Given the description of an element on the screen output the (x, y) to click on. 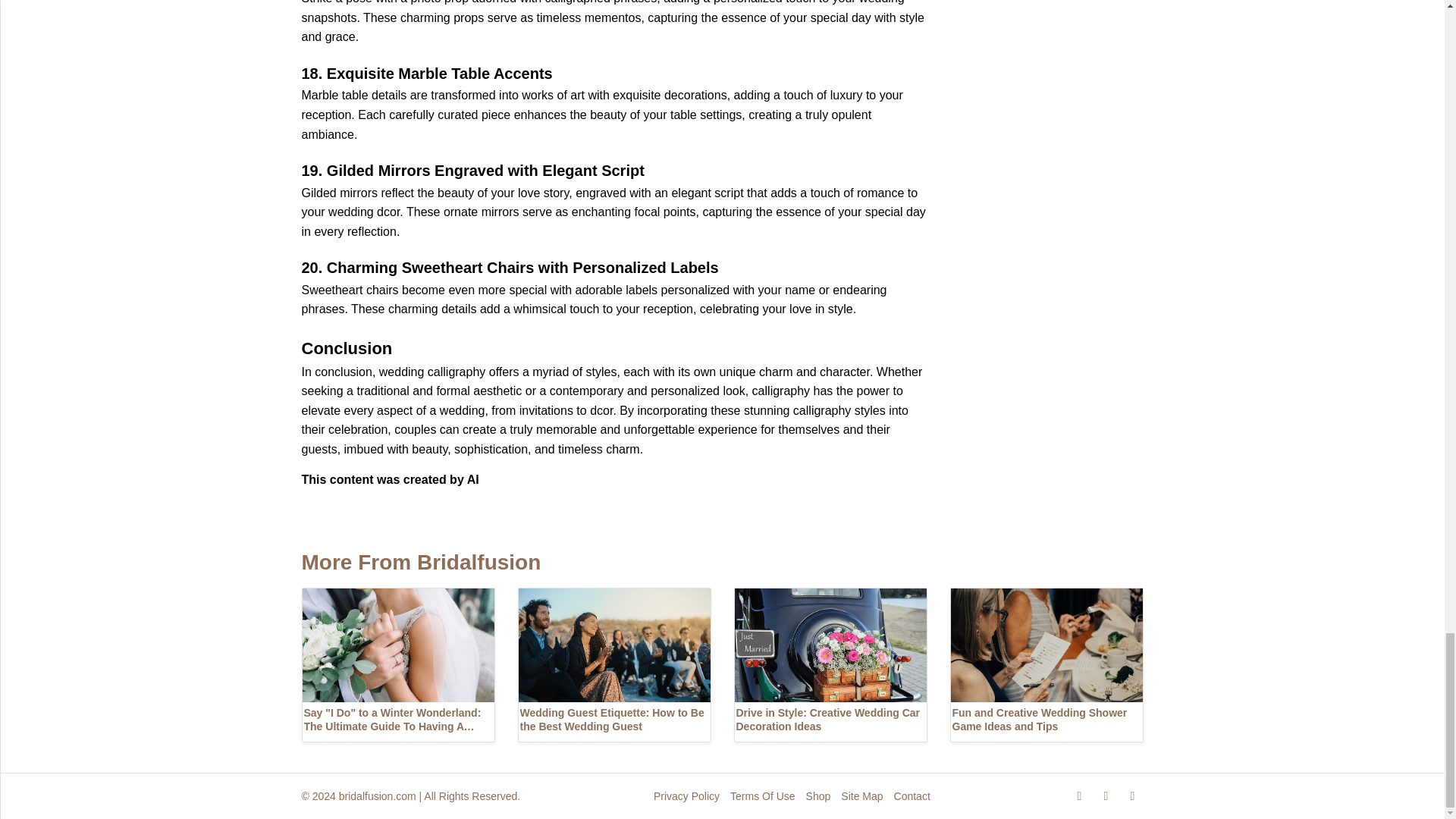
Wedding Guest Etiquette: How to Be the Best Wedding Guest (613, 665)
Drive in Style: Creative Wedding Car Decoration Ideas (830, 665)
